Given the description of an element on the screen output the (x, y) to click on. 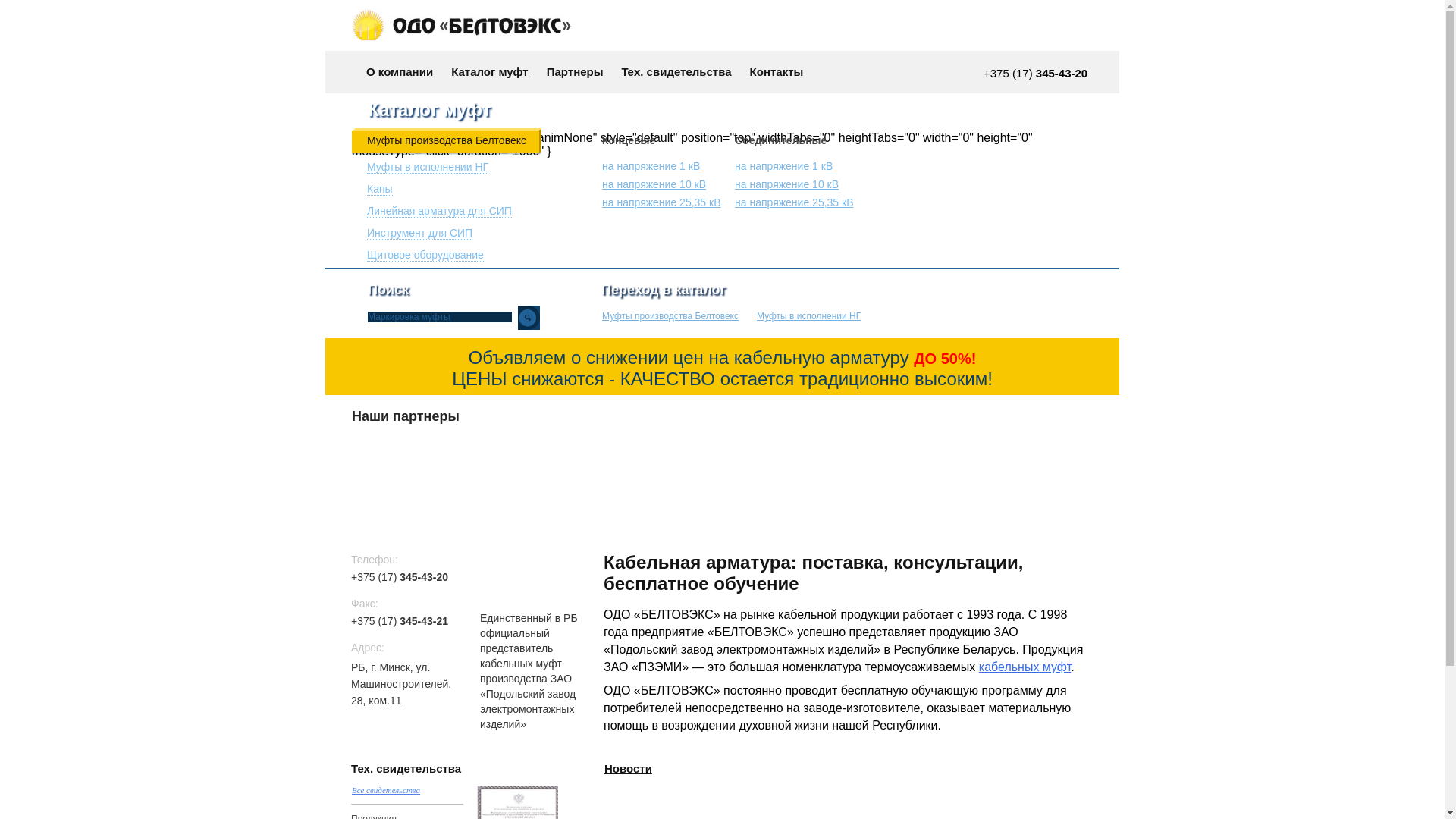
  Element type: hover (1083, 24)
  Element type: hover (1056, 24)
Rss Element type: hover (666, 770)
